Given the description of an element on the screen output the (x, y) to click on. 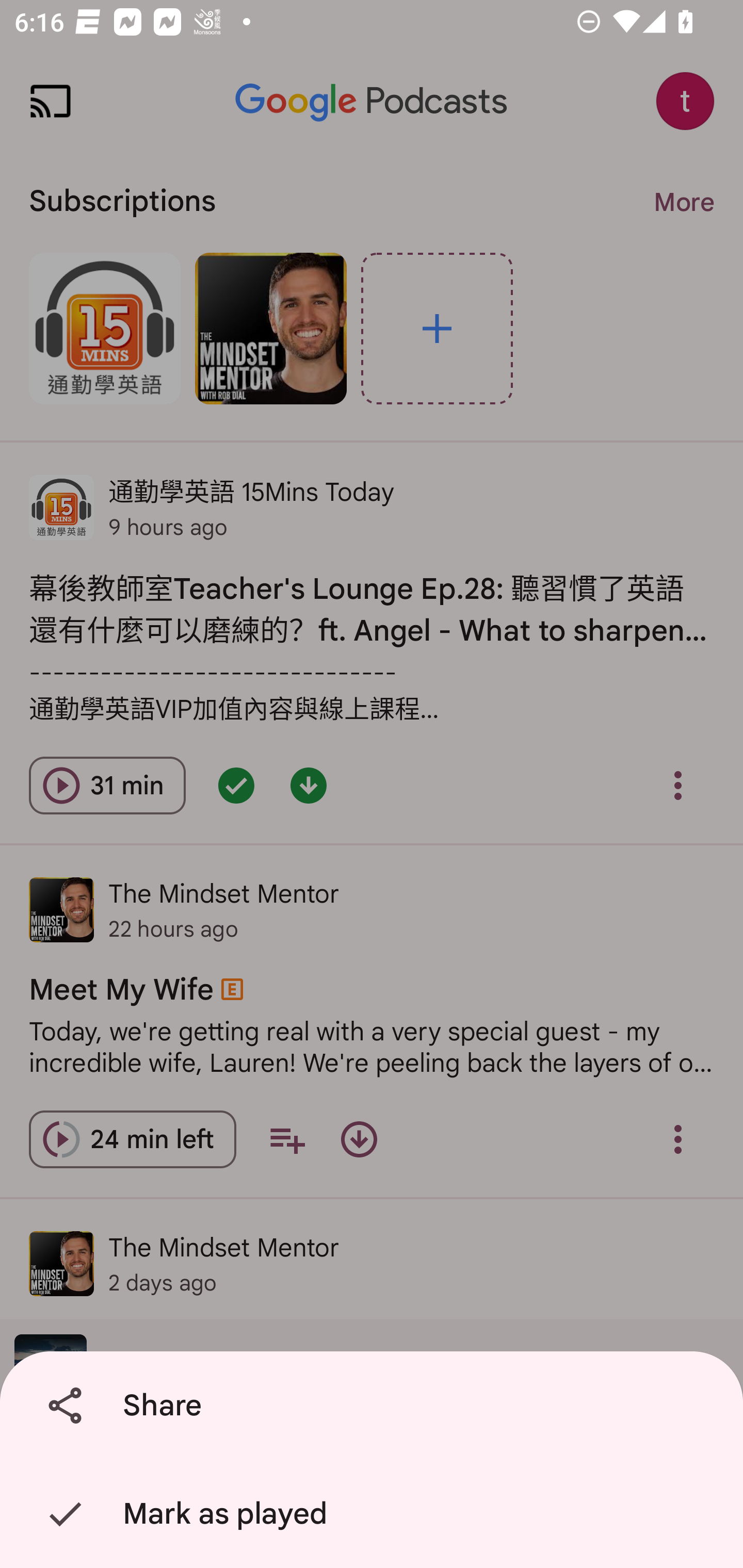
Share (375, 1405)
Mark as played (375, 1513)
